Given the description of an element on the screen output the (x, y) to click on. 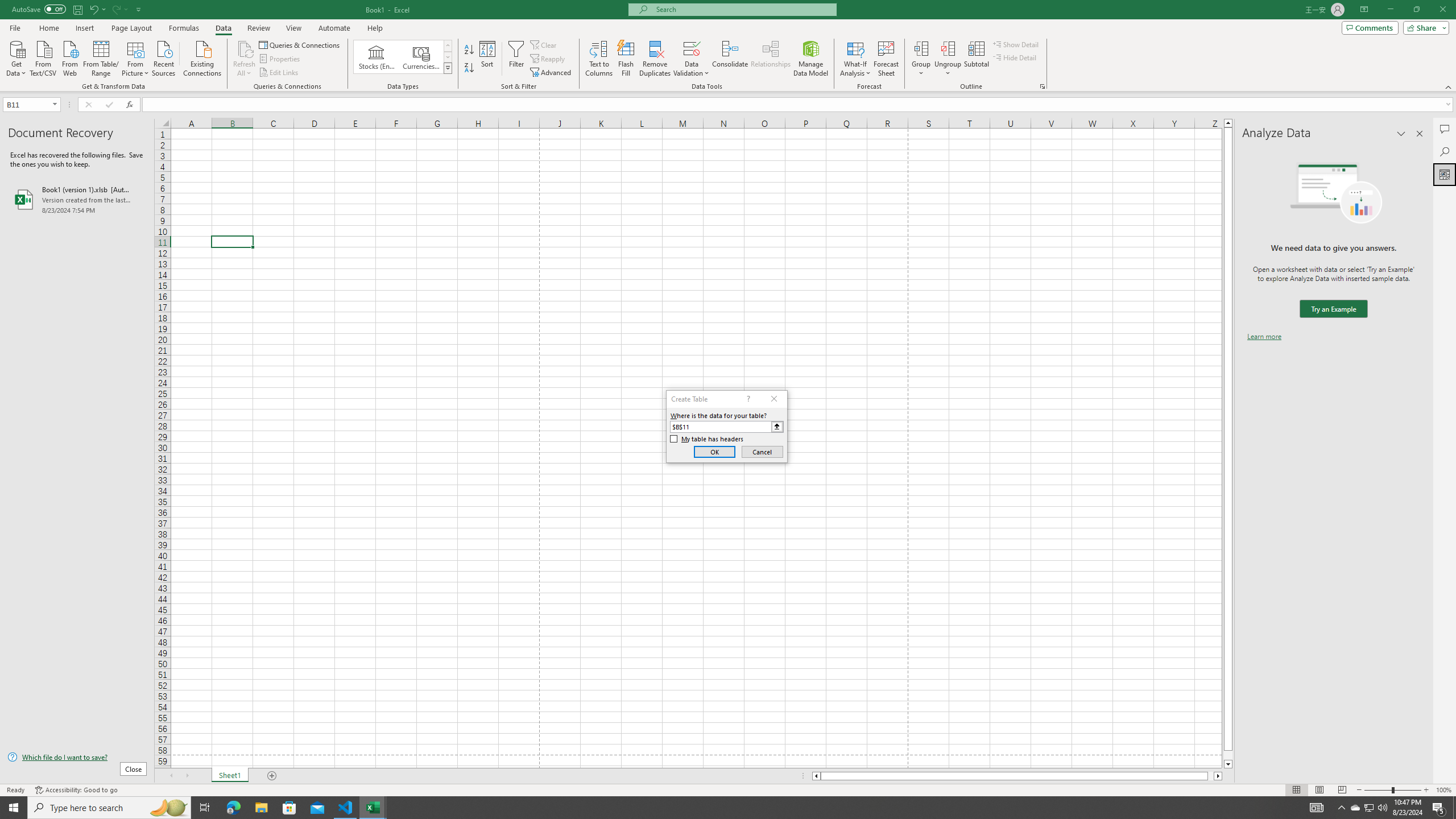
Refresh All (244, 58)
Manage Data Model (810, 58)
From Text/CSV (43, 57)
System (6, 6)
Zoom In (1426, 790)
Comments (1444, 128)
Relationships (770, 58)
Page Layout (131, 28)
Analyze Data (1444, 173)
From Web (69, 57)
Ribbon Display Options (1364, 9)
Existing Connections (202, 57)
Task Pane Options (1400, 133)
Flash Fill (625, 58)
File Tab (15, 27)
